Given the description of an element on the screen output the (x, y) to click on. 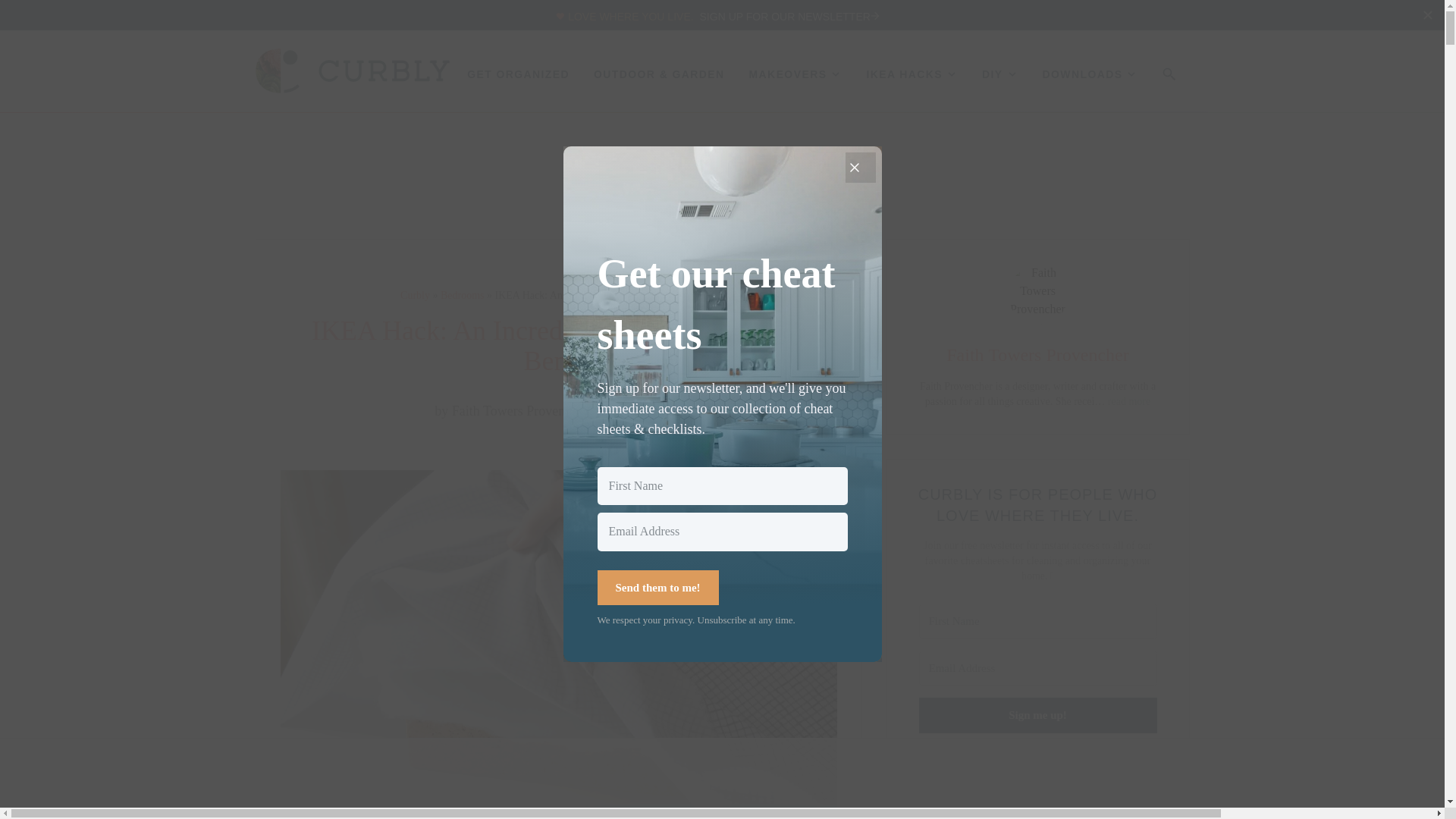
THIS IDEA (559, 815)
IKEA HACKS (912, 73)
DIY (999, 73)
DOWNLOADS (1090, 73)
Curbly RSS feed (1091, 789)
Curbly on Instagram (1009, 789)
Curbly on Pinterest (982, 789)
Faith Towers Provencher (519, 410)
Bedrooms (462, 295)
Curbly on Facebook (1037, 789)
Curbly (414, 295)
MAKEOVERS (796, 73)
Curbly on Twitter (1064, 789)
